Given the description of an element on the screen output the (x, y) to click on. 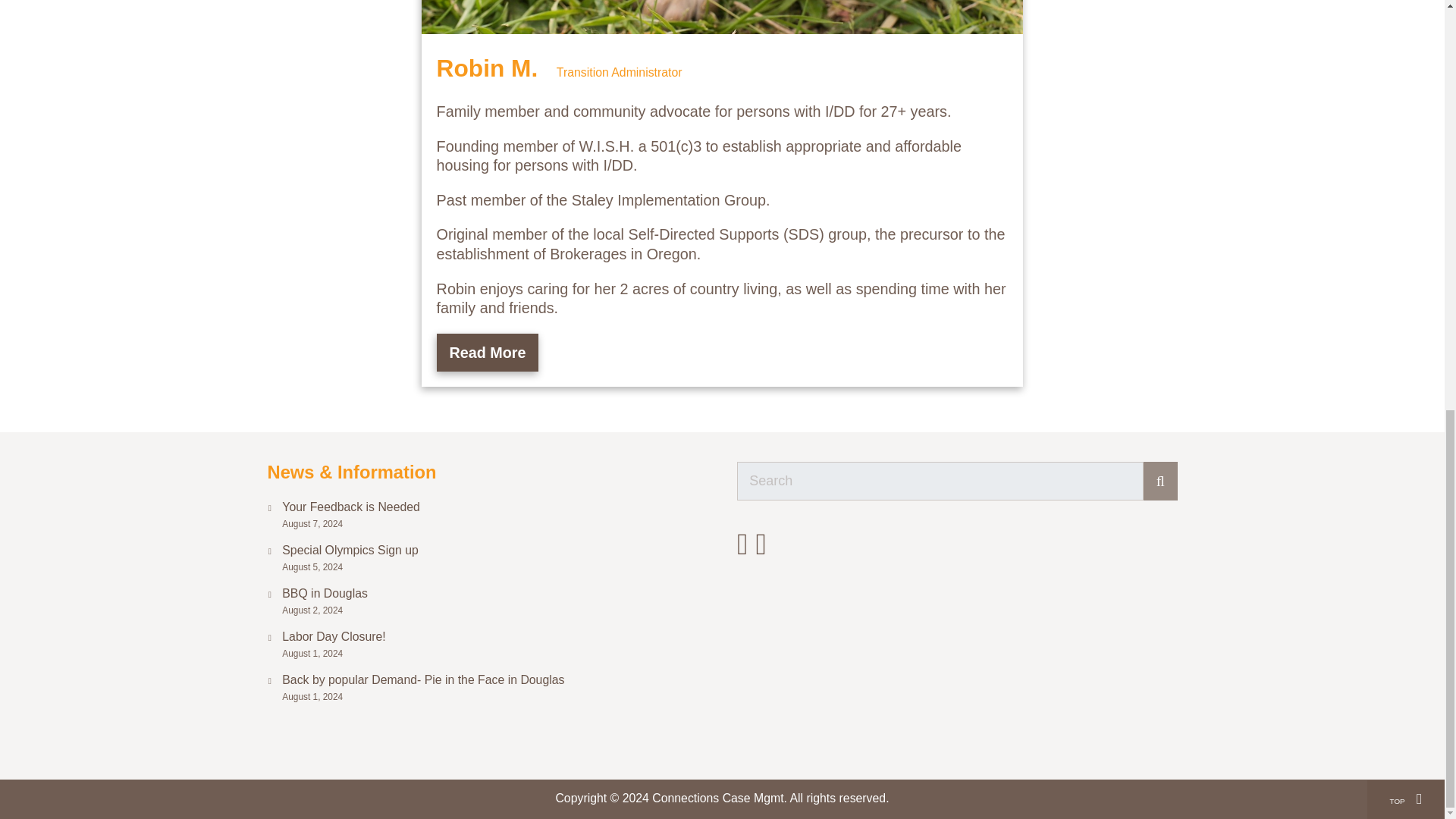
BBQ in Douglas (494, 593)
Back by popular Demand- Pie in the Face in Douglas (494, 680)
Transition Administrator (619, 72)
Labor Day Closure! (494, 637)
Special Olympics Sign up (494, 550)
Your Feedback is Needed (494, 507)
Permalink to Robin M. (490, 67)
